Given the description of an element on the screen output the (x, y) to click on. 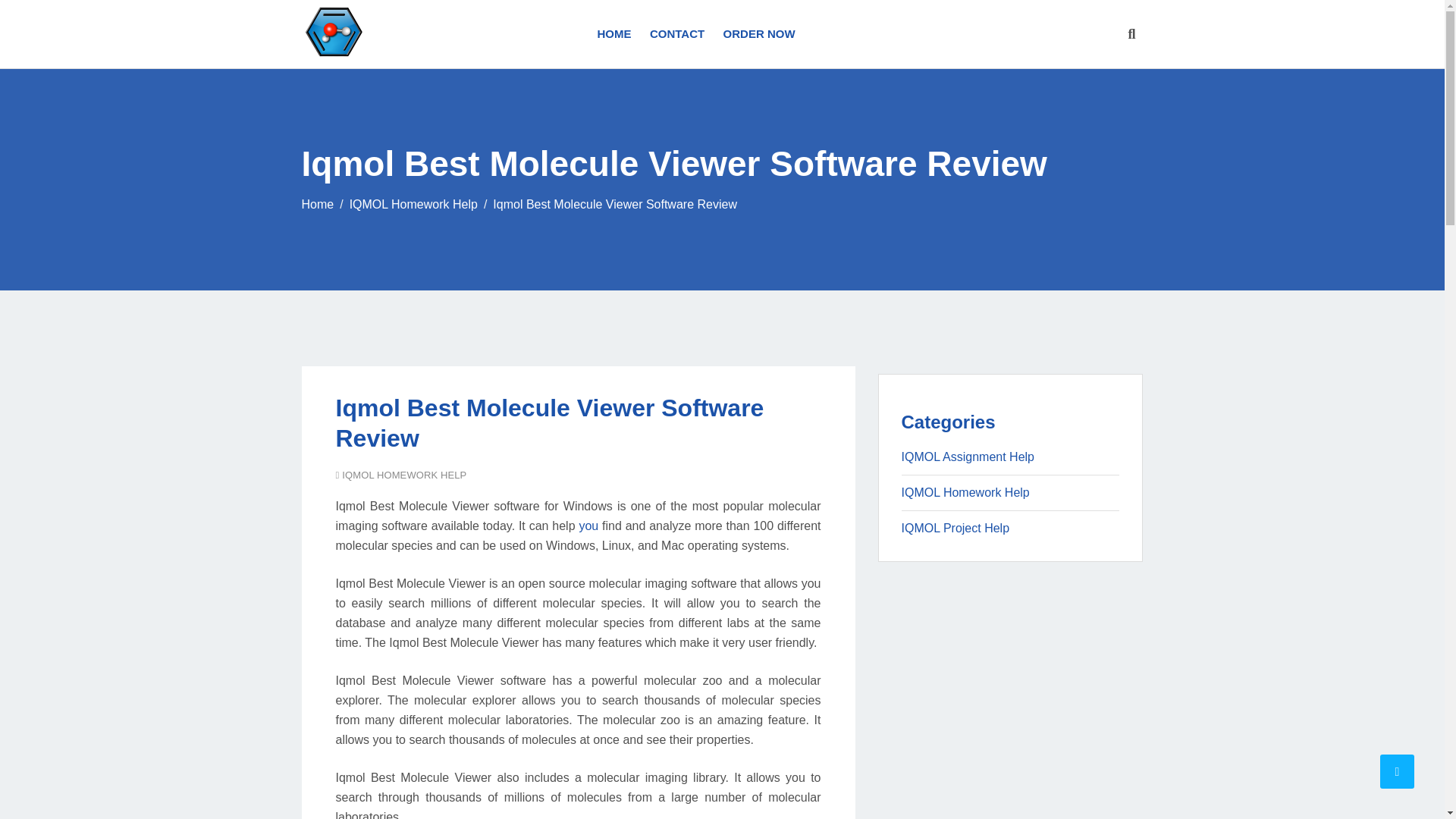
IQMOL Project Help (955, 527)
IQMOL Assignment Help (967, 456)
you (588, 525)
ORDER NOW (755, 33)
IQMOL Homework Help (413, 204)
IQMOL HOMEWORK HELP (403, 474)
IQMOL Homework Help (965, 492)
Home (317, 204)
CONTACT (676, 33)
